Given the description of an element on the screen output the (x, y) to click on. 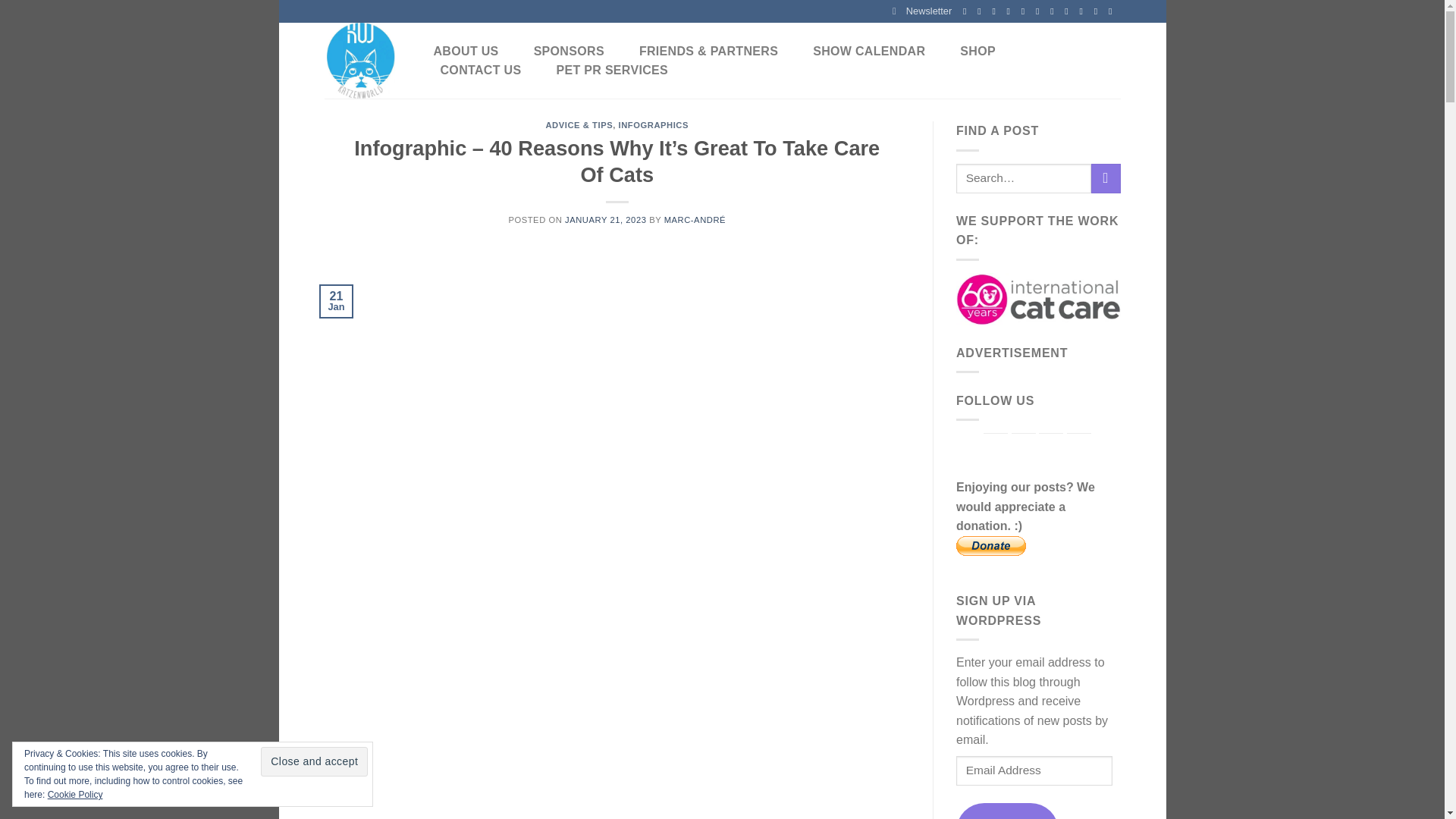
PET PR SERVICES (611, 70)
ABOUT US (466, 51)
Close and accept (314, 761)
CONTACT US (480, 70)
SPONSORS (568, 51)
